Given the description of an element on the screen output the (x, y) to click on. 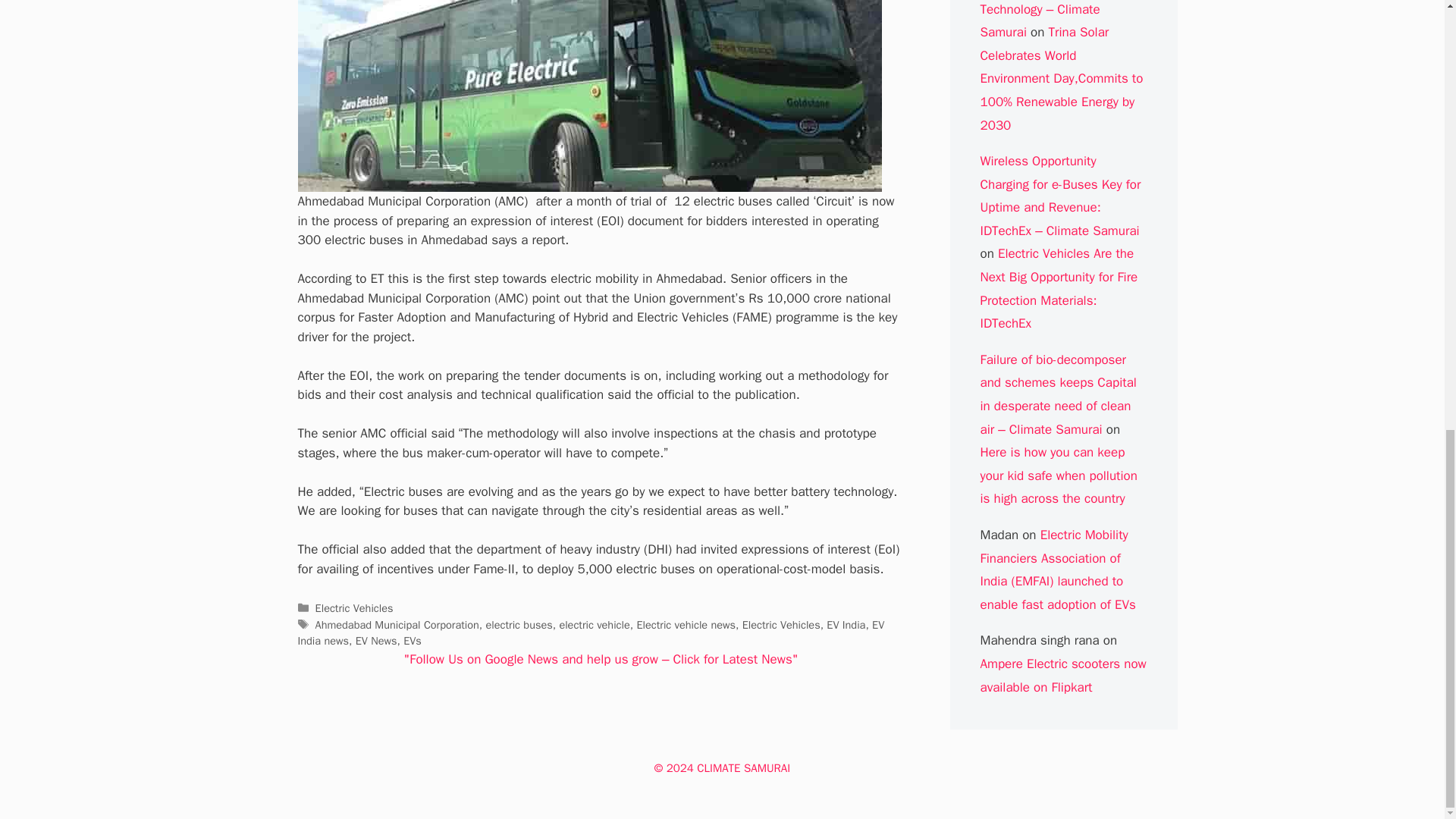
EV India (845, 624)
Electric Vehicles (781, 624)
EVs (412, 640)
EV India news (590, 633)
Electric vehicle news (685, 624)
electric buses (517, 624)
electric vehicle (593, 624)
EV News (376, 640)
Electric Vehicles (354, 608)
Ahmedabad Municipal Corporation (397, 624)
